Given the description of an element on the screen output the (x, y) to click on. 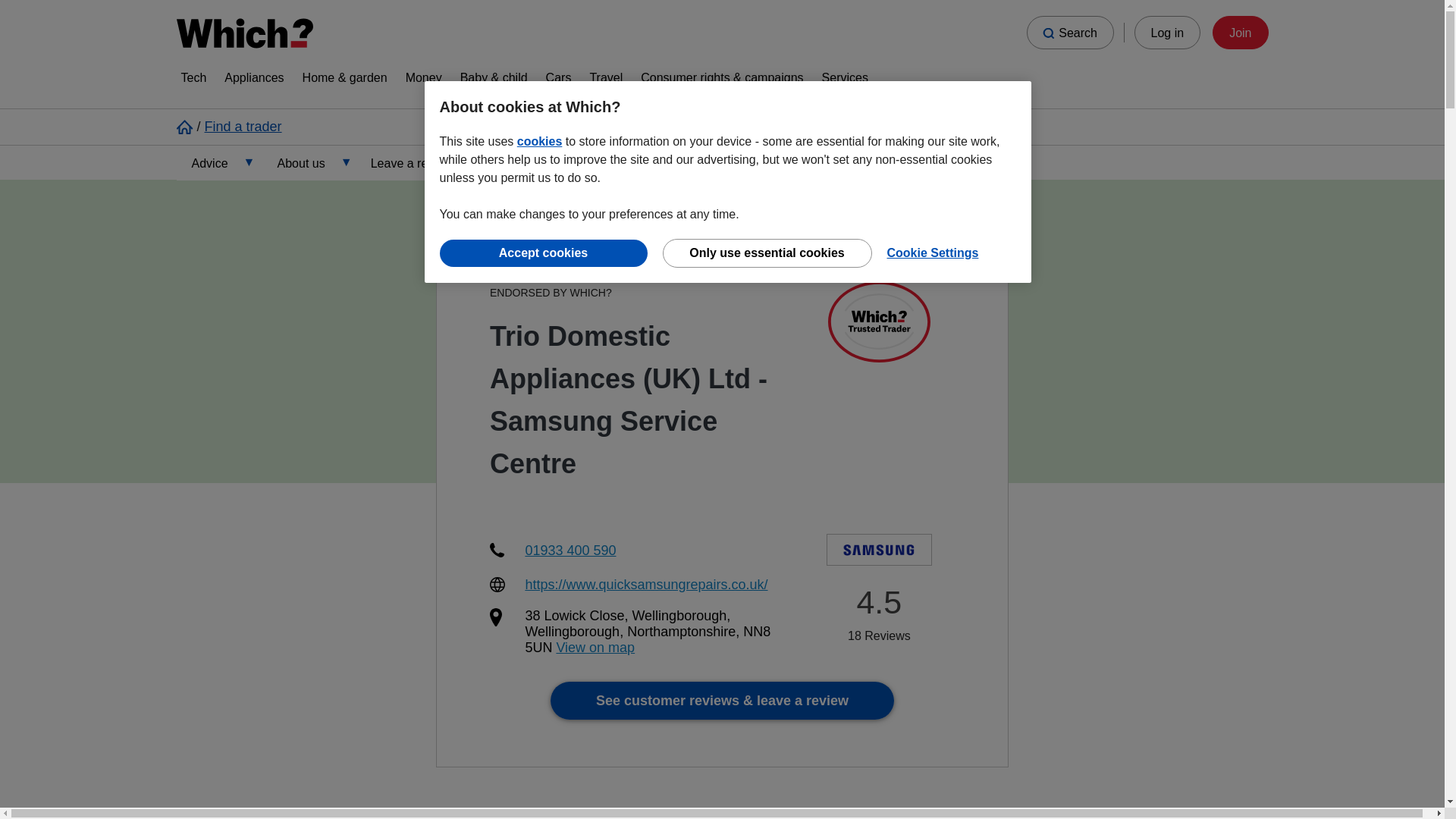
Log in (1167, 32)
Tech (193, 79)
Join (1240, 32)
Search (1069, 32)
